Given the description of an element on the screen output the (x, y) to click on. 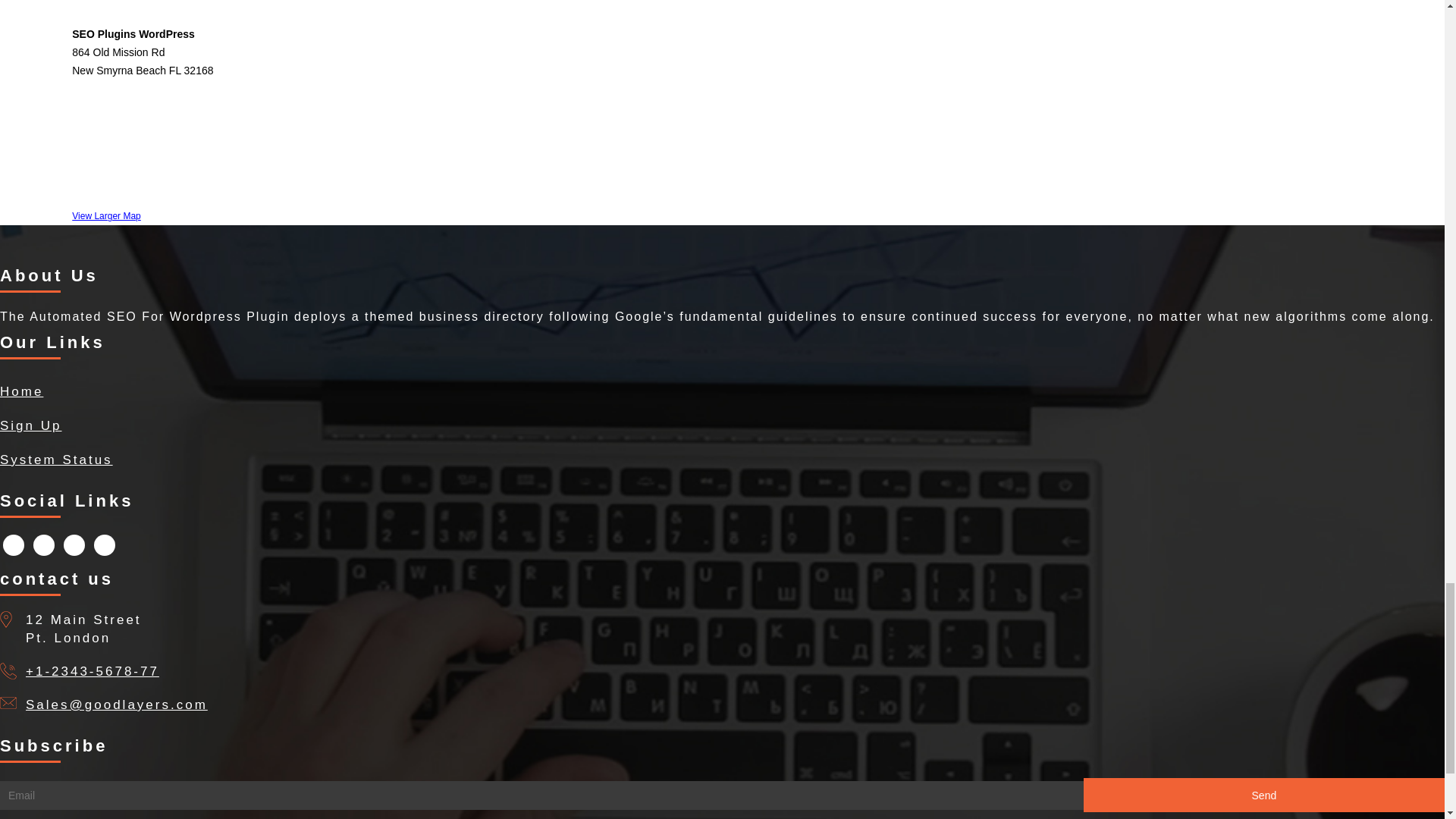
View Larger Map (106, 215)
Sign Up (30, 425)
Home (21, 391)
System Status (56, 459)
